Given the description of an element on the screen output the (x, y) to click on. 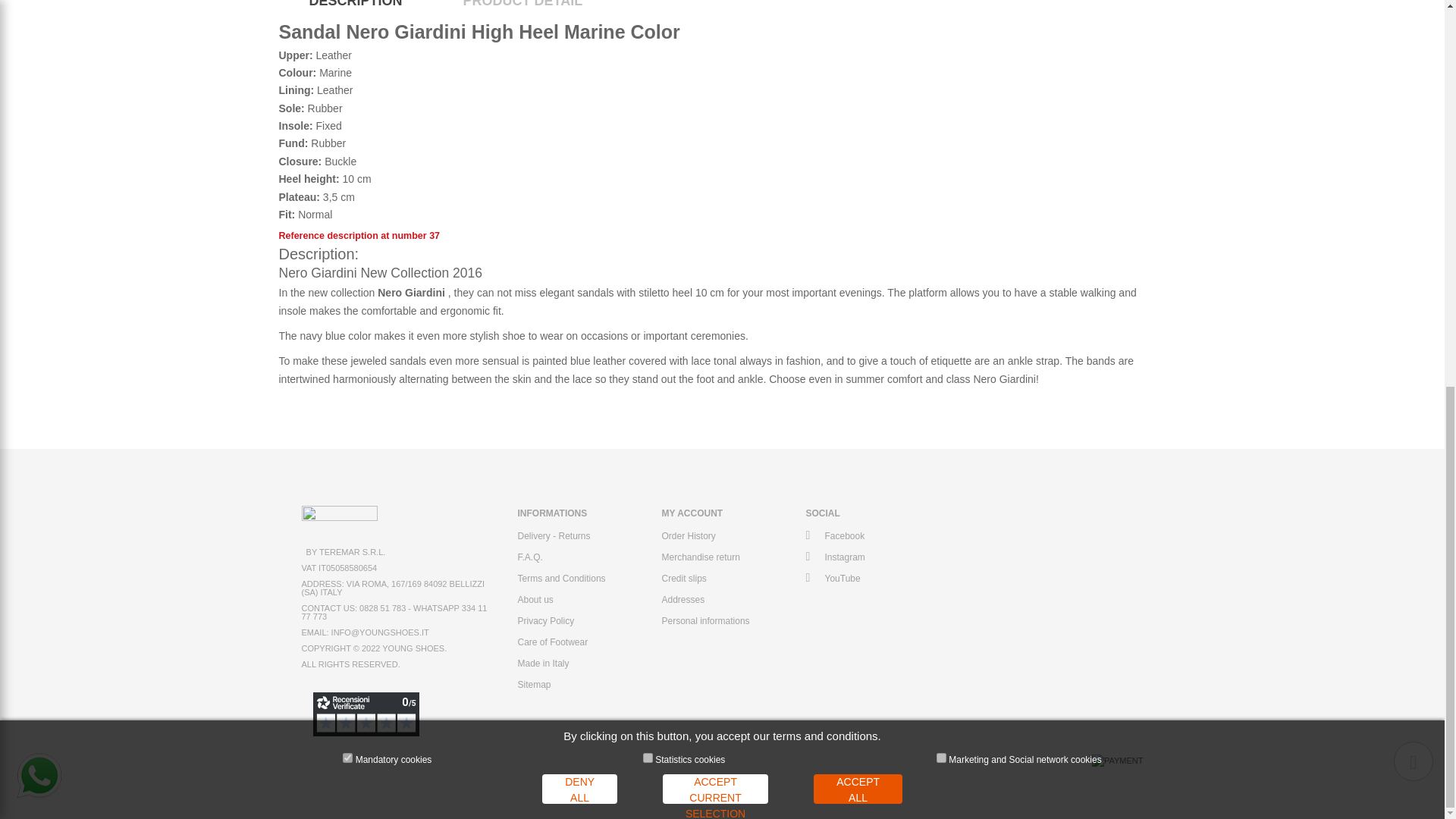
on (647, 26)
on (941, 26)
on (347, 26)
